Given the description of an element on the screen output the (x, y) to click on. 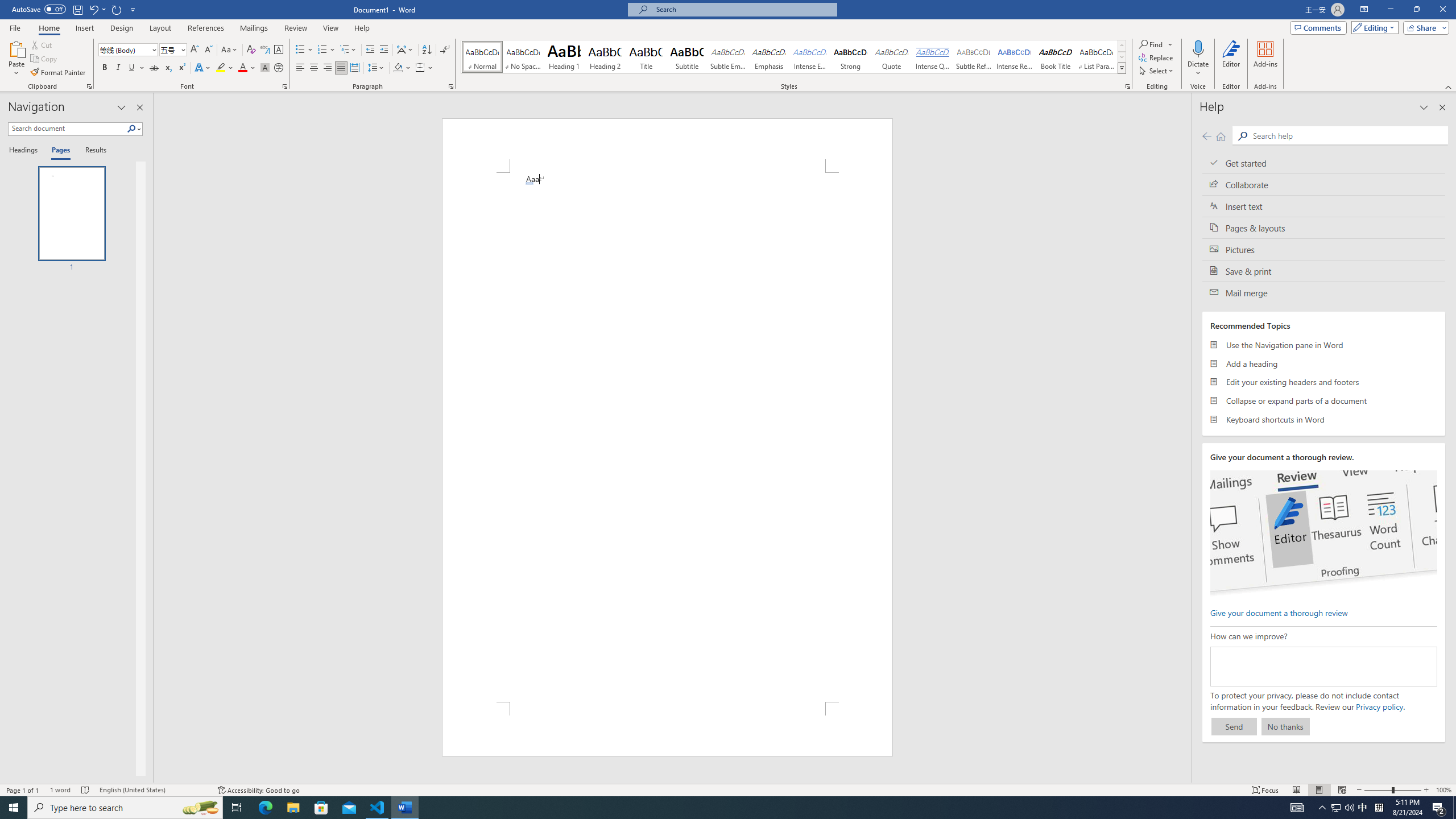
Borders (424, 67)
Mode (1372, 27)
Microsoft search (742, 9)
Dictate (1197, 58)
Underline (136, 67)
Bullets (300, 49)
Zoom In (1426, 790)
Office Clipboard... (88, 85)
Undo Style (96, 9)
editor ui screenshot (1323, 533)
Bullets (304, 49)
Accessibility Checker Accessibility: Good to go (258, 790)
Minimize (1390, 9)
Page Number Page 1 of 1 (22, 790)
